Given the description of an element on the screen output the (x, y) to click on. 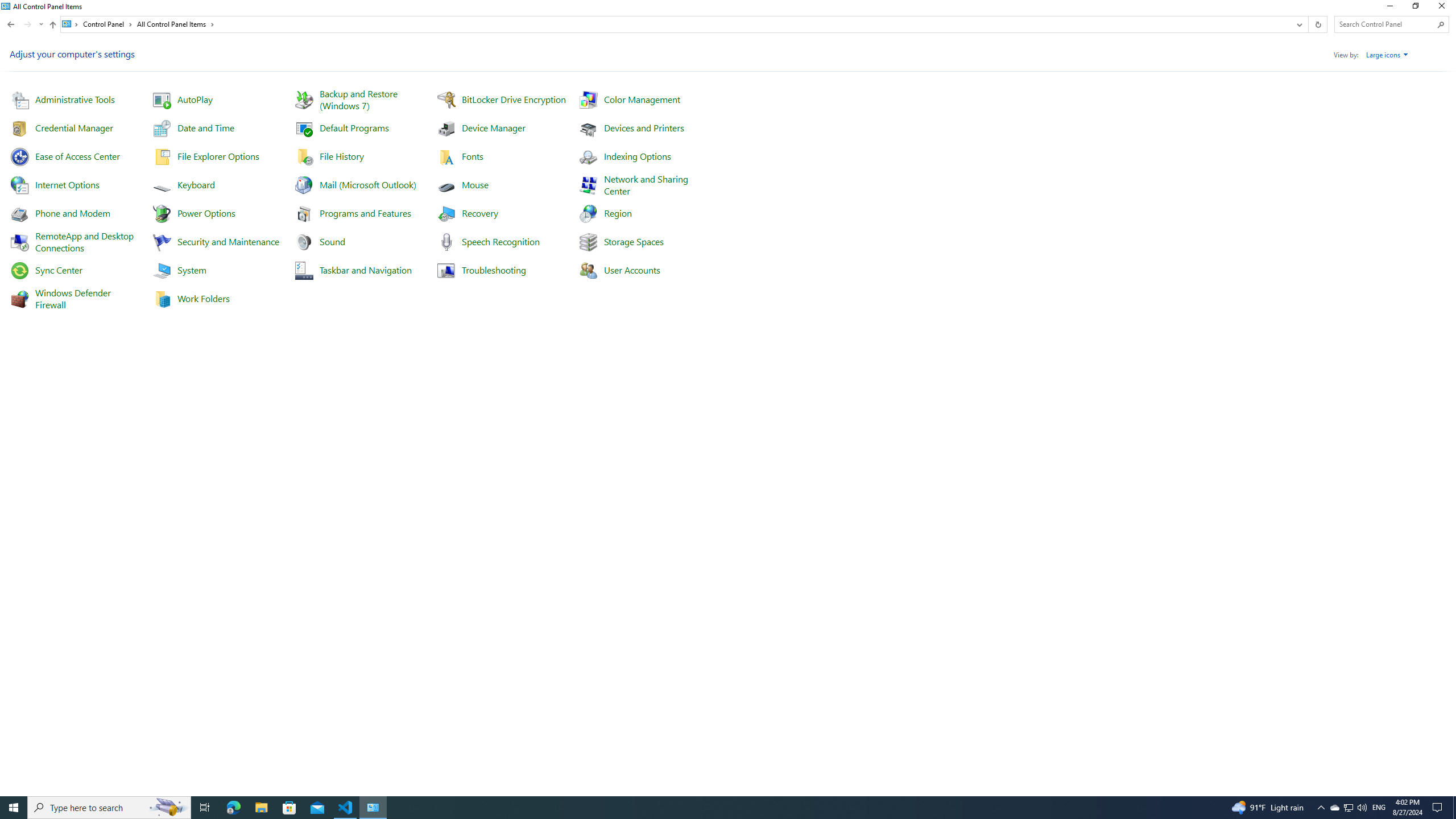
Back to Control Panel (Alt + Left Arrow) (10, 23)
Phone and Modem (72, 212)
Address: Control Panel\All Control Panel Items (675, 23)
Ease of Access Center (76, 155)
Control Panel - 1 running window (373, 807)
Mouse (474, 184)
Default Programs (354, 127)
Storage Spaces (633, 241)
Sync Center (57, 269)
Indexing Options (637, 155)
